Given the description of an element on the screen output the (x, y) to click on. 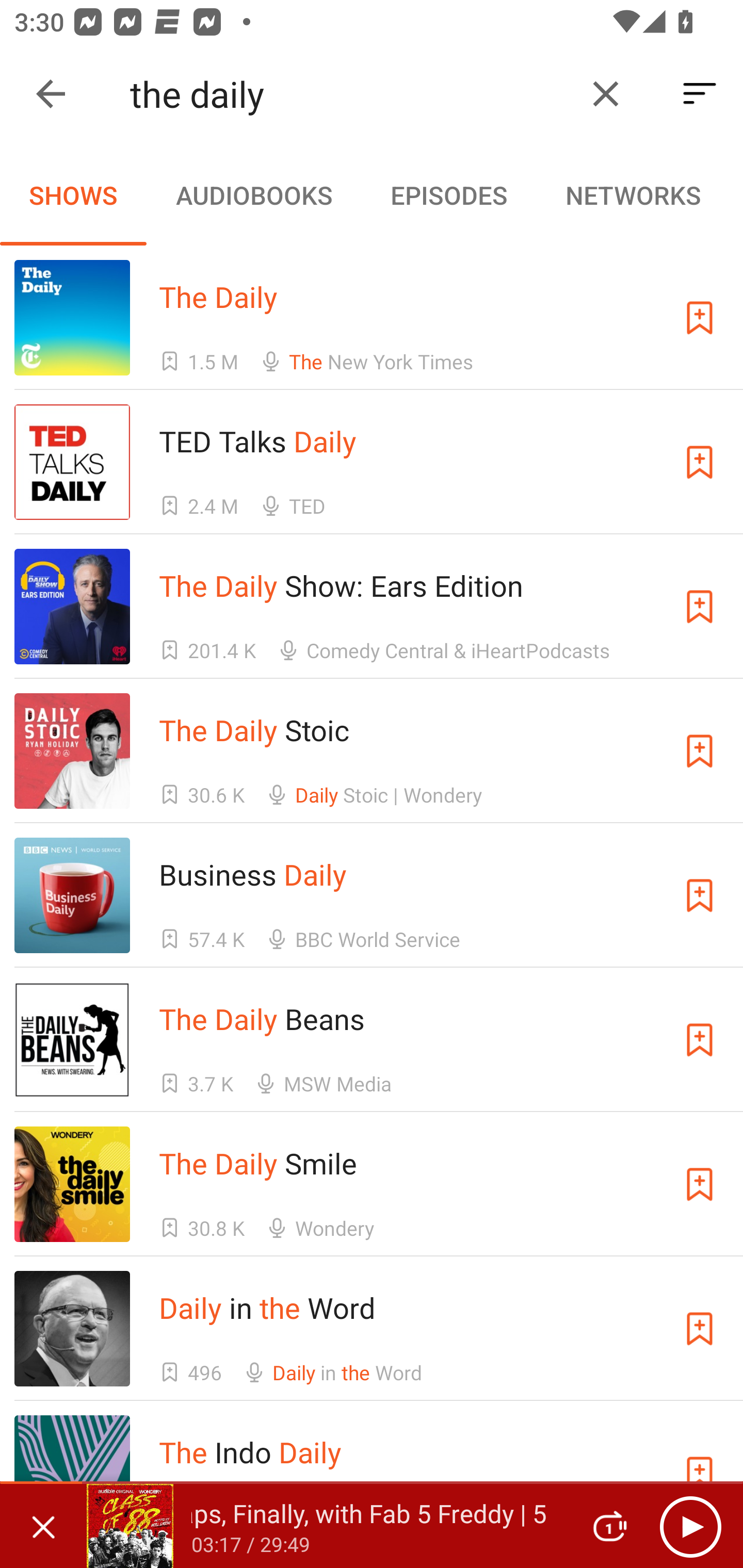
Collapse (50, 93)
Clear query (605, 93)
Sort By (699, 93)
the daily (349, 94)
SHOWS (73, 195)
AUDIOBOOKS (253, 195)
EPISODES (448, 195)
NETWORKS (632, 195)
Subscribe (699, 317)
Subscribe (699, 462)
Subscribe (699, 606)
Subscribe (699, 751)
Subscribe (699, 895)
Subscribe (699, 1039)
Subscribe (699, 1183)
Subscribe (699, 1328)
Play (690, 1526)
